Given the description of an element on the screen output the (x, y) to click on. 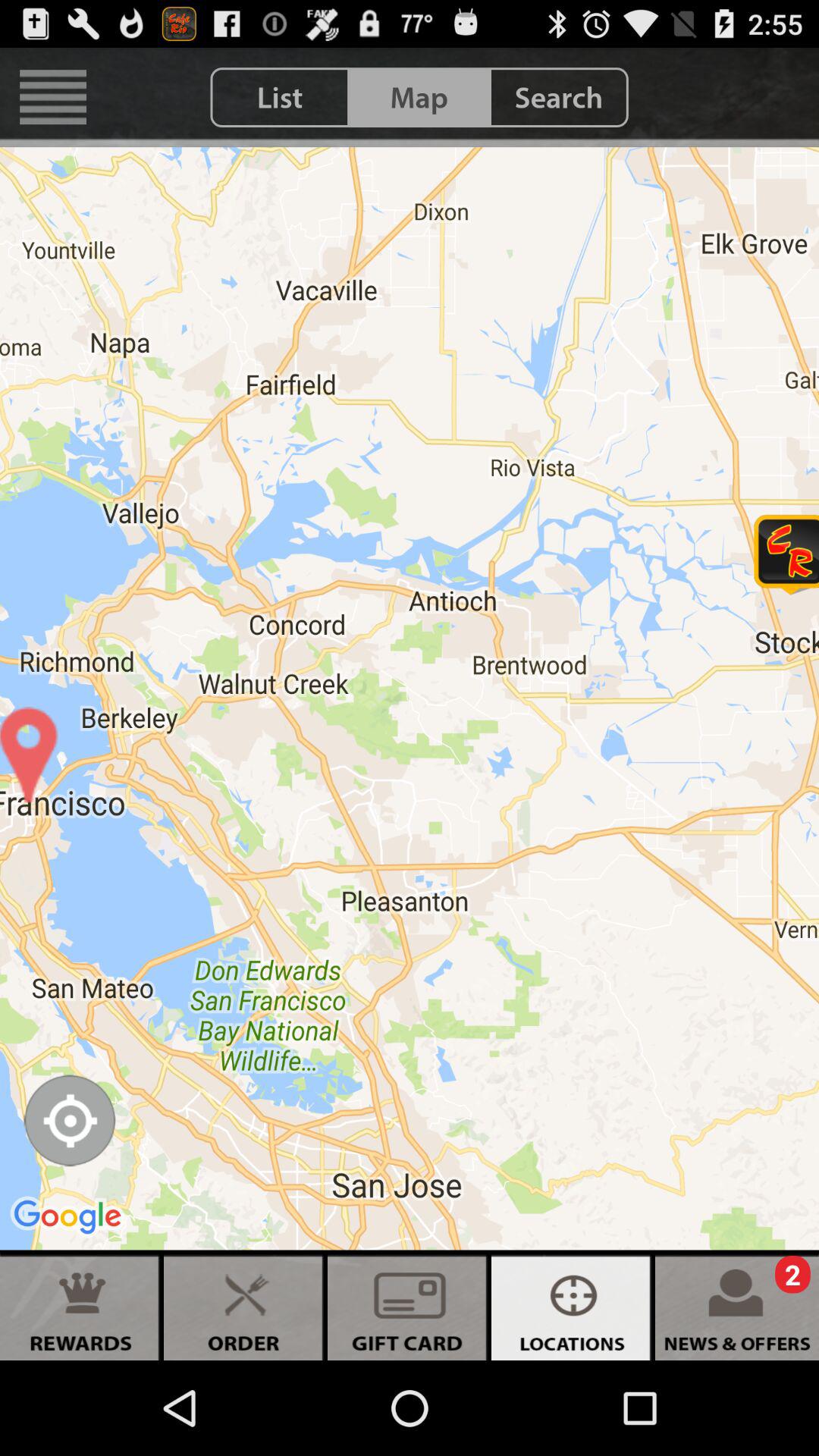
tap search icon (558, 97)
